Given the description of an element on the screen output the (x, y) to click on. 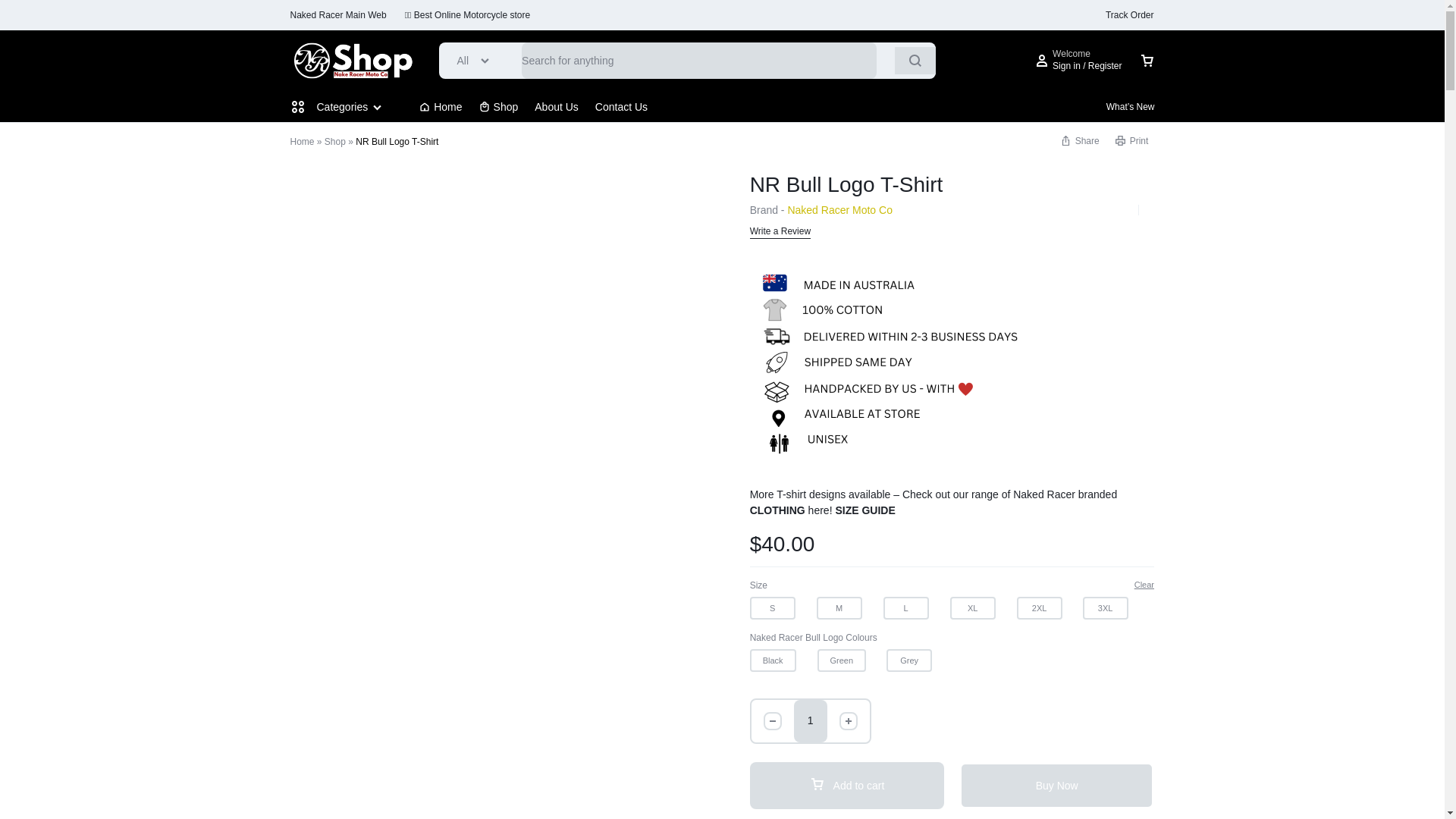
Track Order (1129, 15)
Naked Racer Main Web (337, 15)
